Given the description of an element on the screen output the (x, y) to click on. 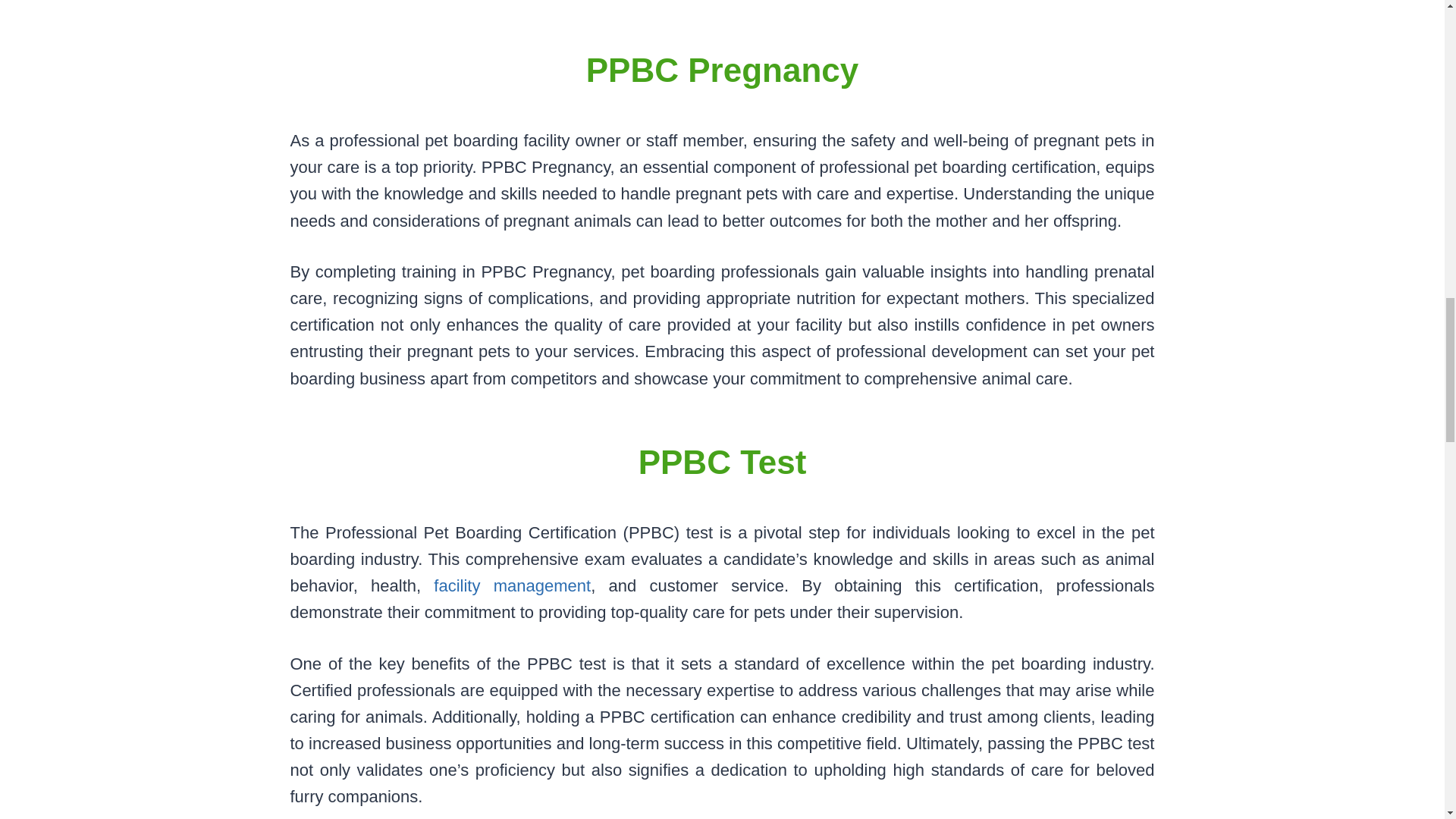
facility management (512, 585)
